Given the description of an element on the screen output the (x, y) to click on. 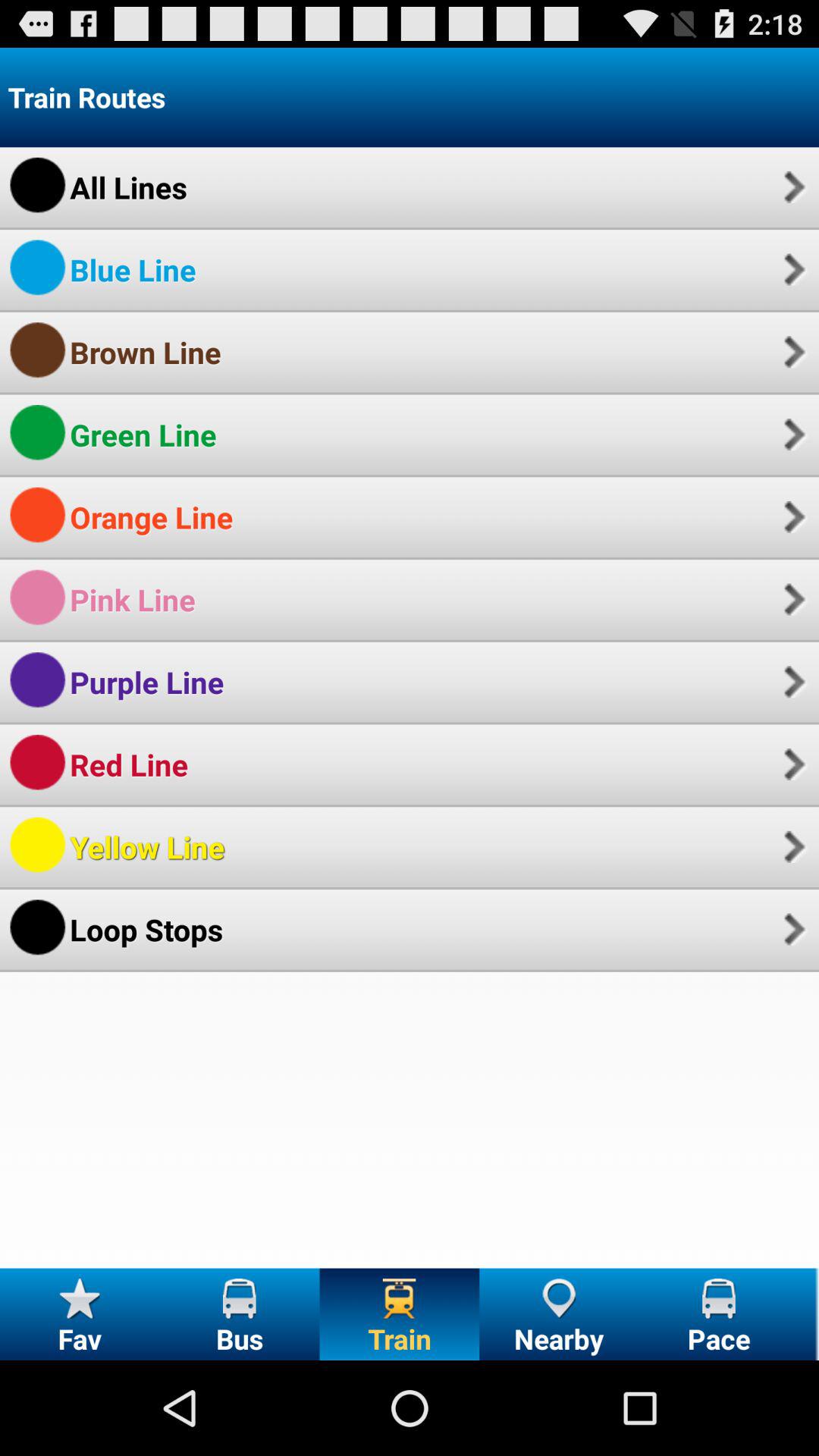
choose the item above the pace (792, 929)
